Given the description of an element on the screen output the (x, y) to click on. 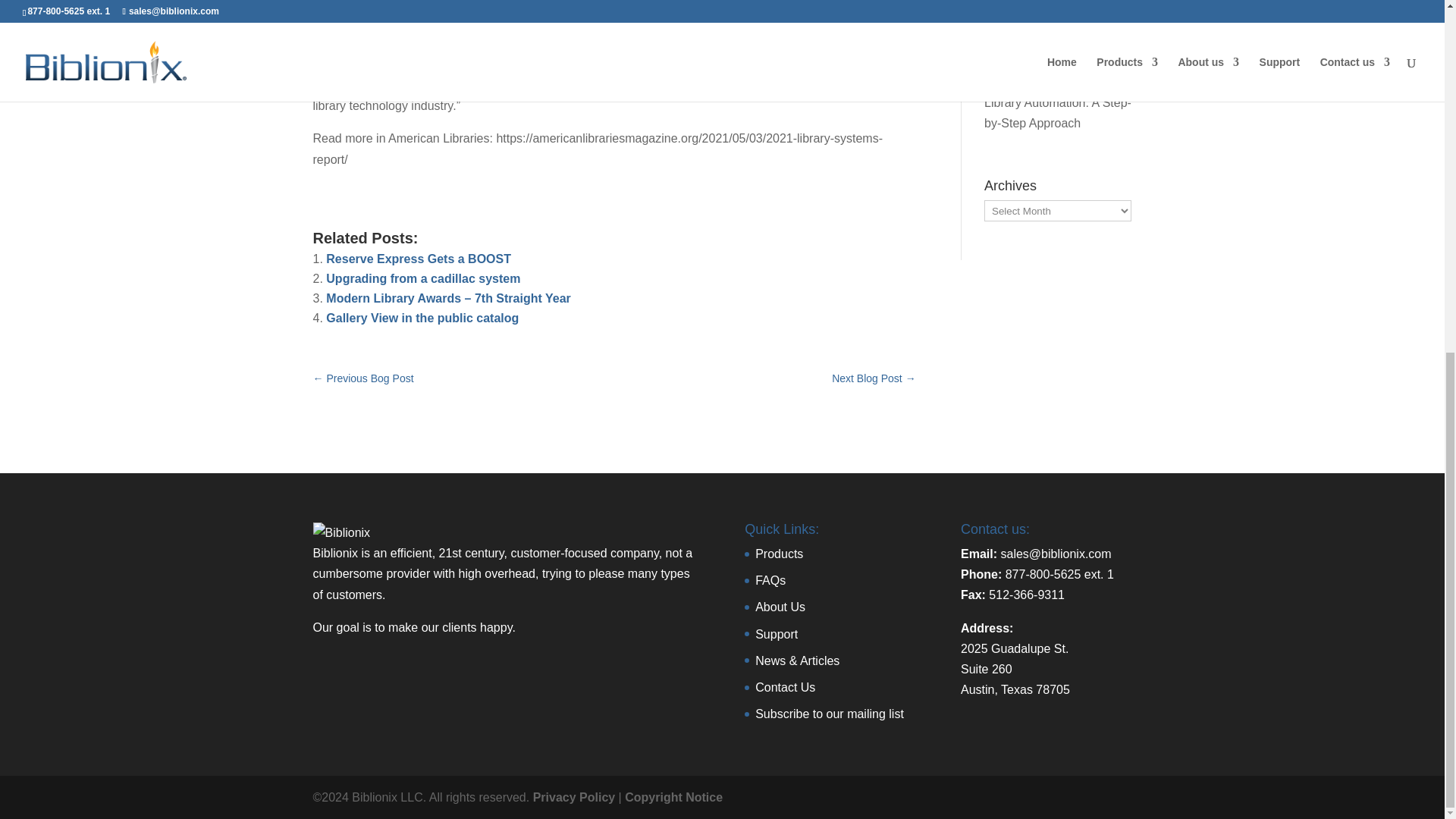
Reserve Express Gets a BOOST (418, 258)
Gallery View in the public catalog (422, 318)
Upgrading from a cadillac system (422, 278)
Reserve Express Gets a BOOST (418, 258)
Gallery View in the public catalog (422, 318)
What Features Should Your Library Management System Have? (1054, 7)
Upgrading from a cadillac system (422, 278)
